Given the description of an element on the screen output the (x, y) to click on. 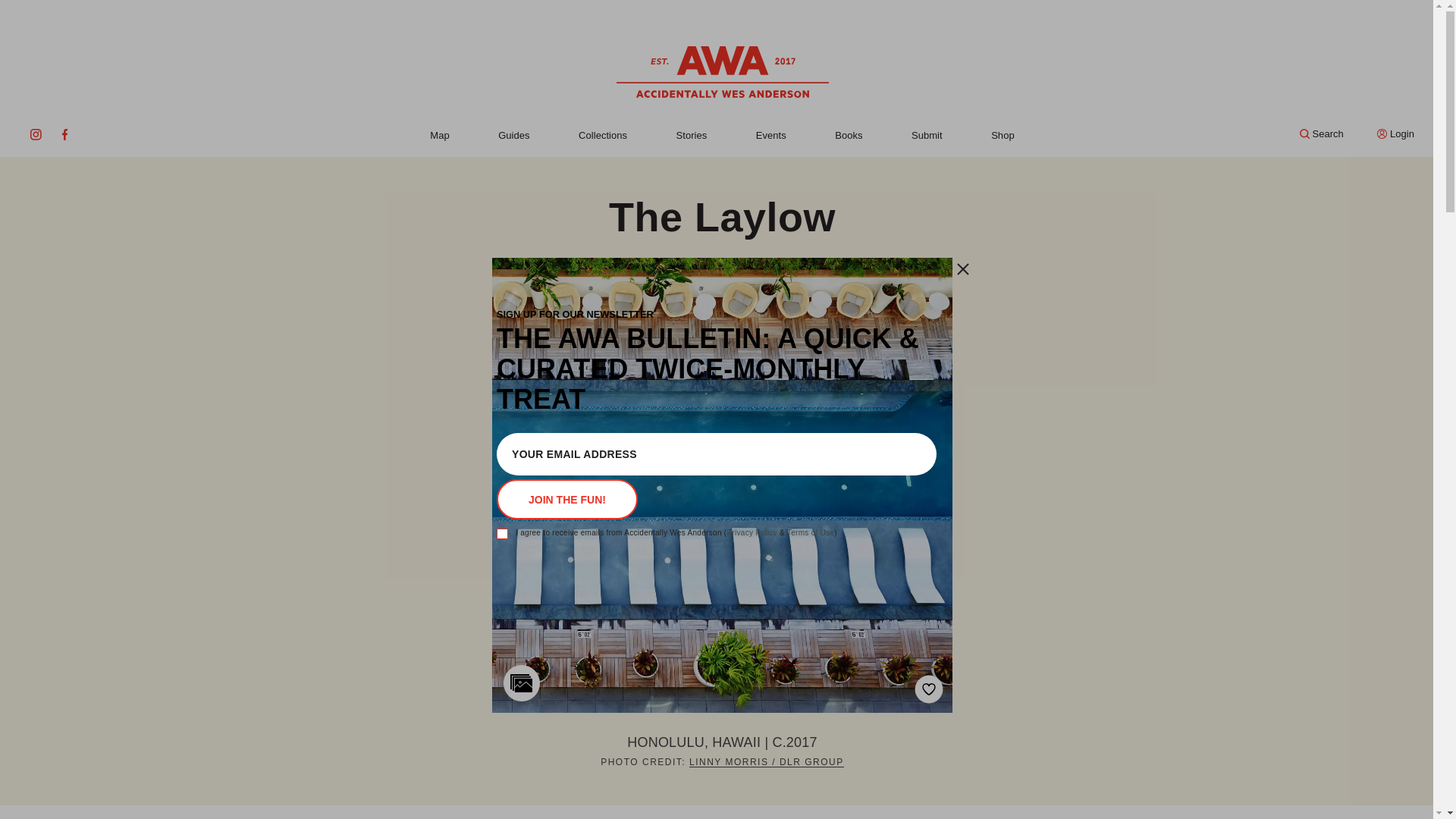
Login (1395, 133)
Events (770, 134)
Collections (602, 134)
Map (438, 134)
Submit (926, 134)
Guides (513, 134)
Books (847, 134)
Shop (1002, 134)
Stories (692, 134)
Search (1321, 133)
